Given the description of an element on the screen output the (x, y) to click on. 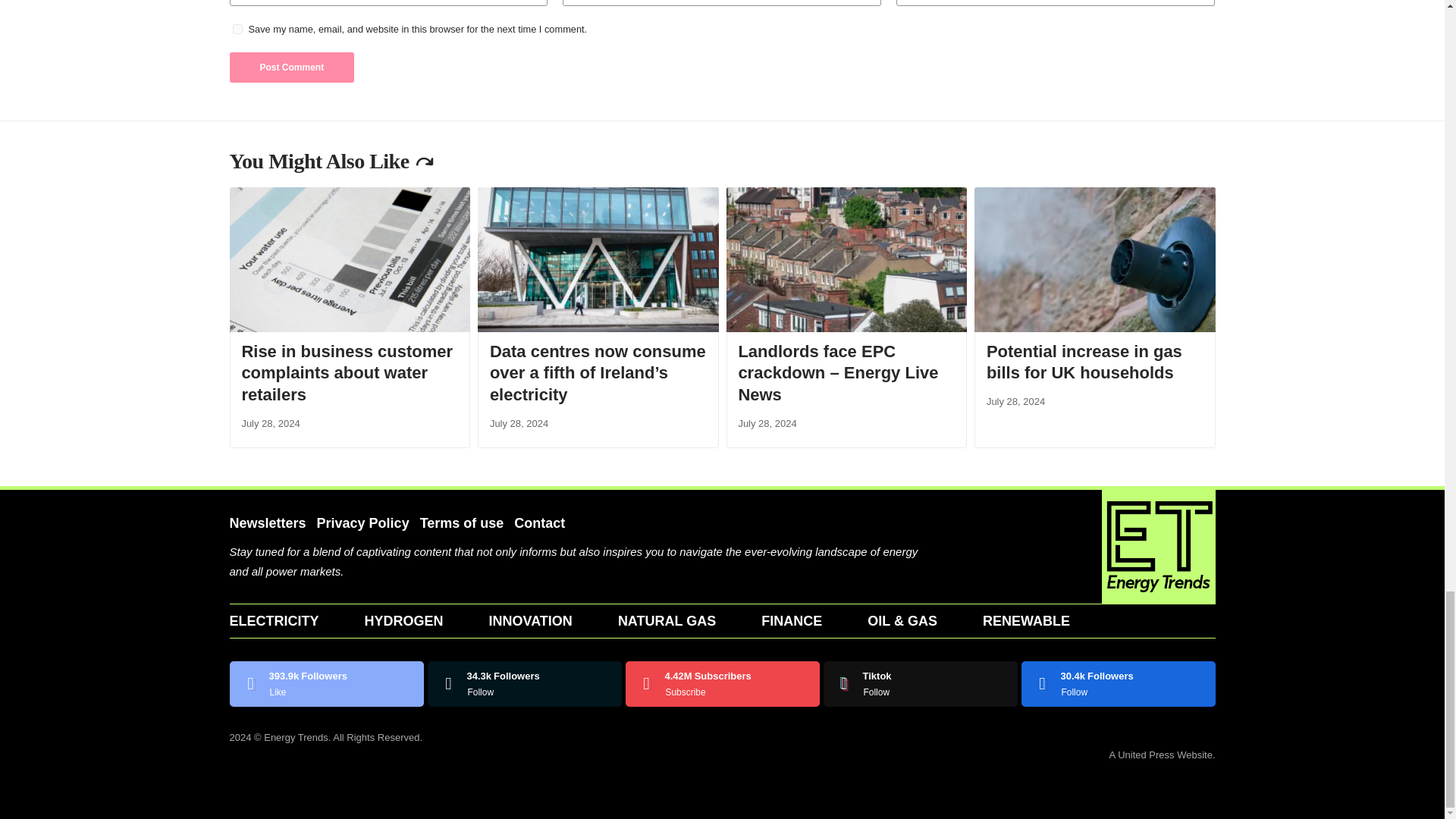
Rise in business customer complaints about water retailers (349, 259)
yes (236, 29)
Post Comment (290, 67)
Potential increase in gas bills for UK households (1094, 259)
